Given the description of an element on the screen output the (x, y) to click on. 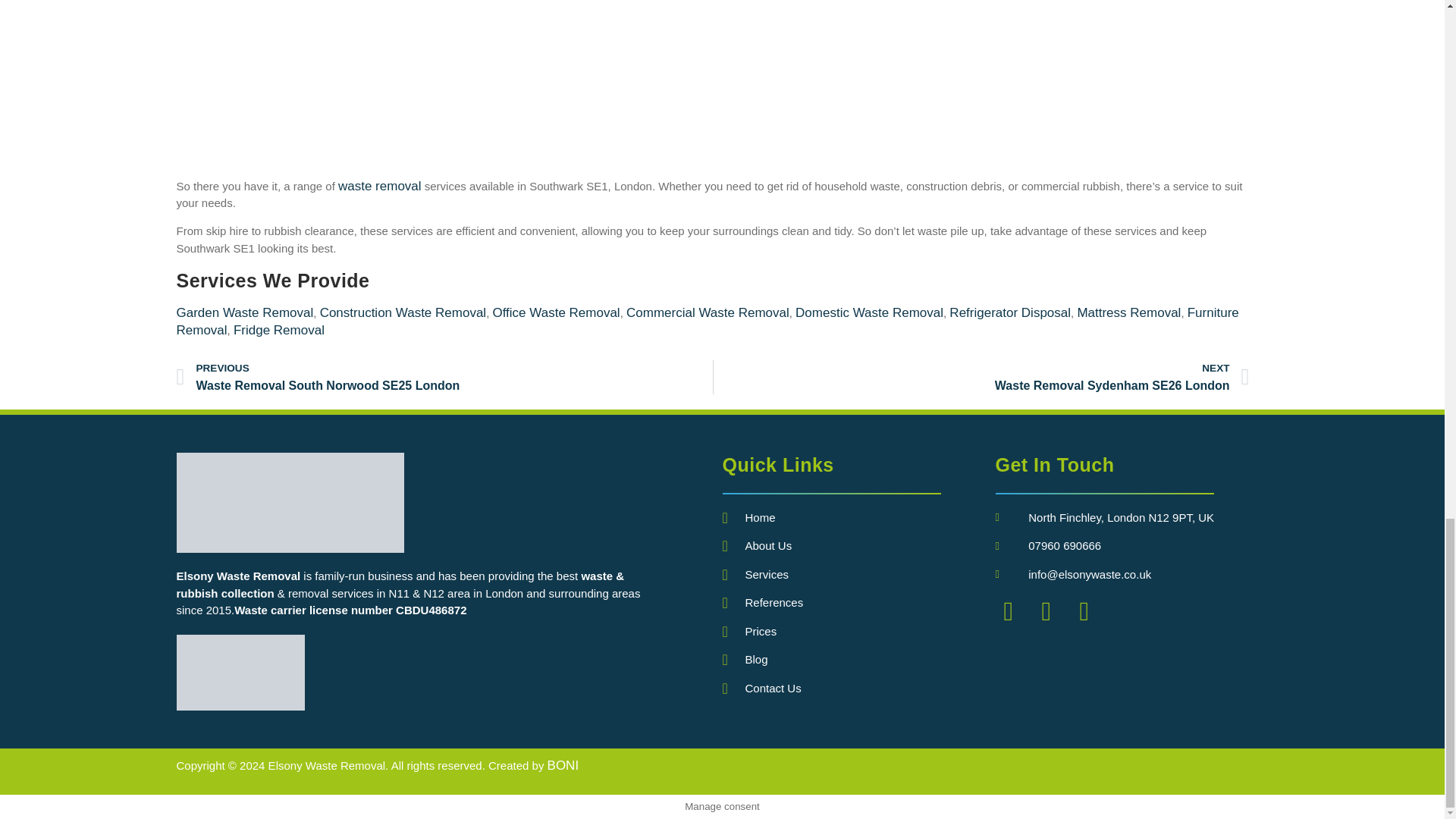
References (858, 602)
Fridge Removal (278, 329)
Mattress Removal (1128, 312)
Furniture Removal (707, 321)
office waste removal (556, 312)
Blog (858, 660)
Waste Removal (981, 376)
Commercial Waste Removal (240, 672)
Prices (707, 312)
